Given the description of an element on the screen output the (x, y) to click on. 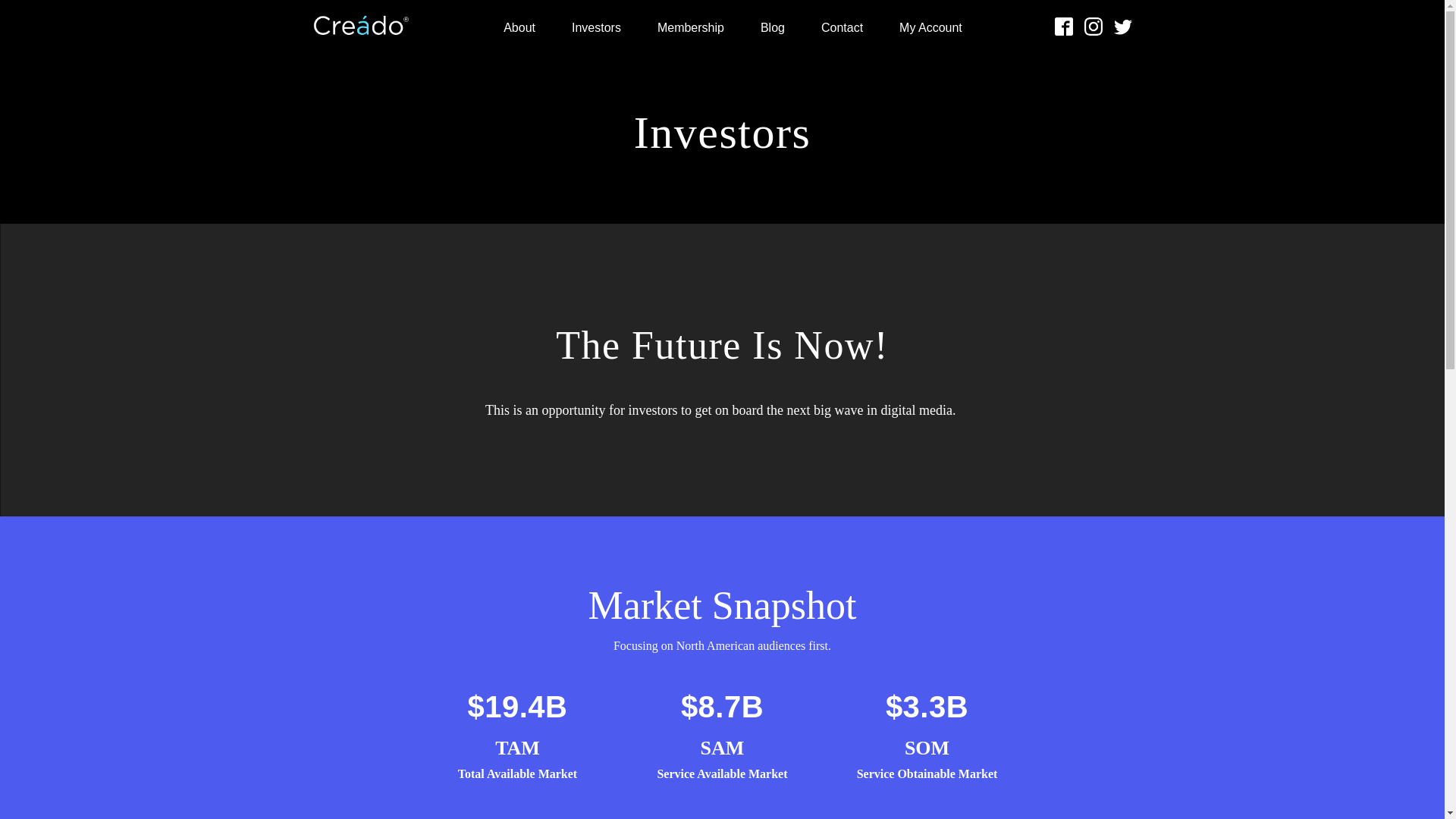
Blog (772, 25)
Investors (596, 25)
Membership (690, 25)
My Account (929, 25)
About (518, 25)
Contact (841, 25)
